Given the description of an element on the screen output the (x, y) to click on. 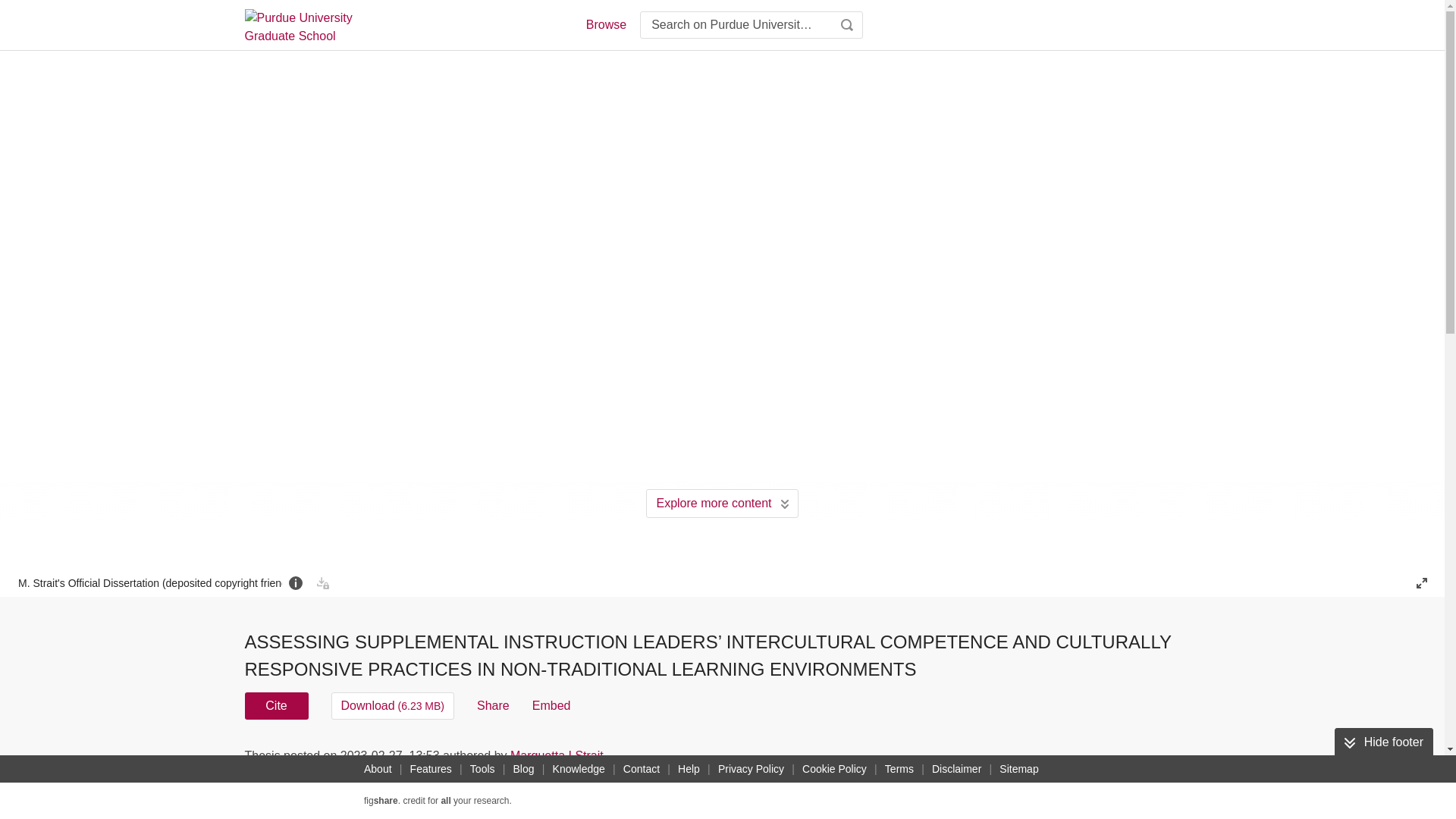
Privacy Policy (751, 769)
Contact (640, 769)
Marquetta I Strait (557, 755)
Embed (551, 705)
Cite (275, 705)
About (377, 769)
Tools (482, 769)
Features (431, 769)
Share (493, 705)
Explore more content (721, 502)
Help (688, 769)
Blog (523, 769)
Hide footer (1383, 742)
USAGE METRICS (976, 759)
